Given the description of an element on the screen output the (x, y) to click on. 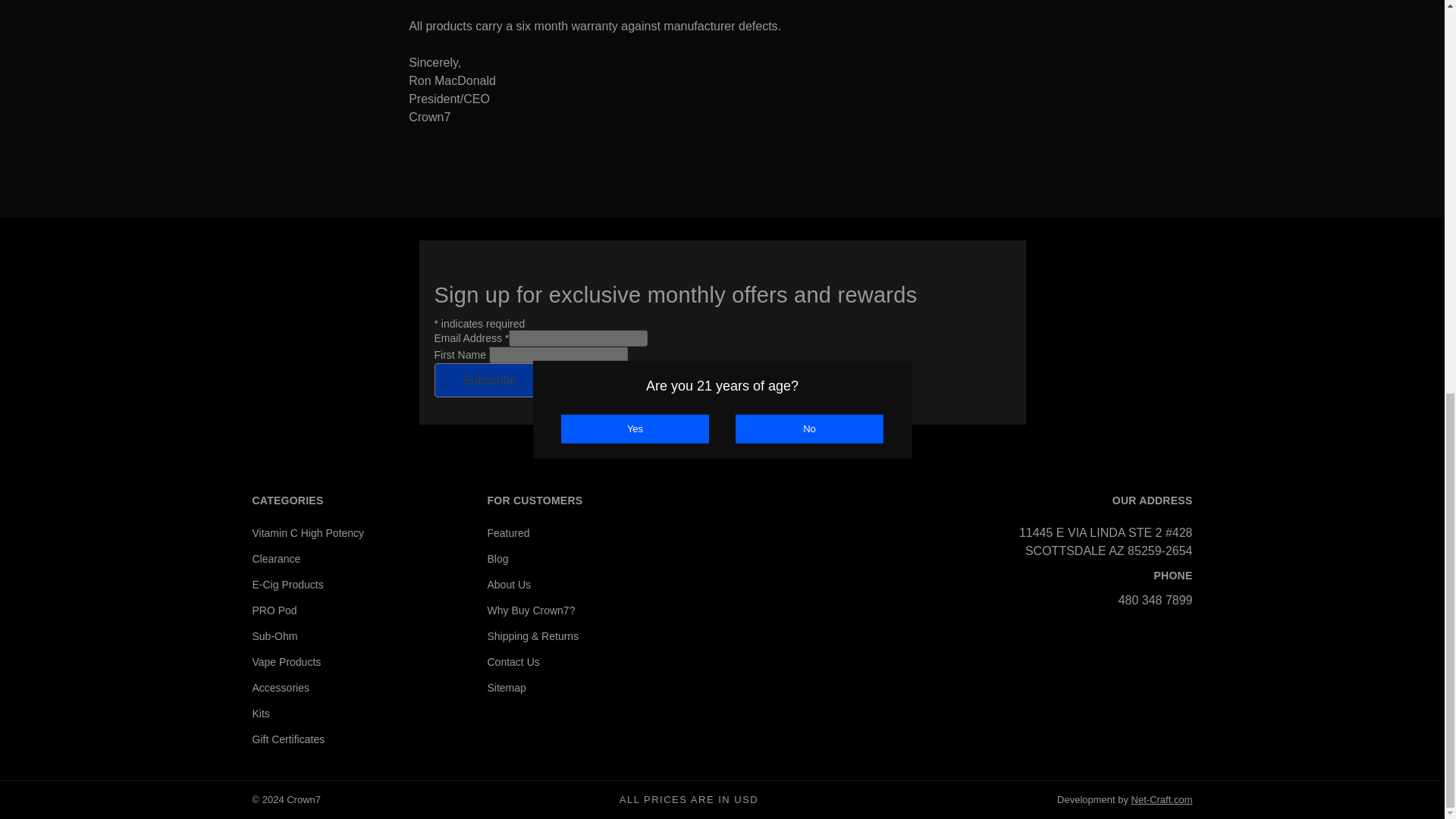
Vape Products (285, 662)
Sub-Ohm (274, 635)
Subscribe (488, 380)
Vitamin C High Potency (307, 532)
PRO Pod (274, 610)
Accessories (279, 687)
Clearance (275, 558)
E-Cig Products (287, 584)
Subscribe (488, 380)
Kits (260, 713)
